Given the description of an element on the screen output the (x, y) to click on. 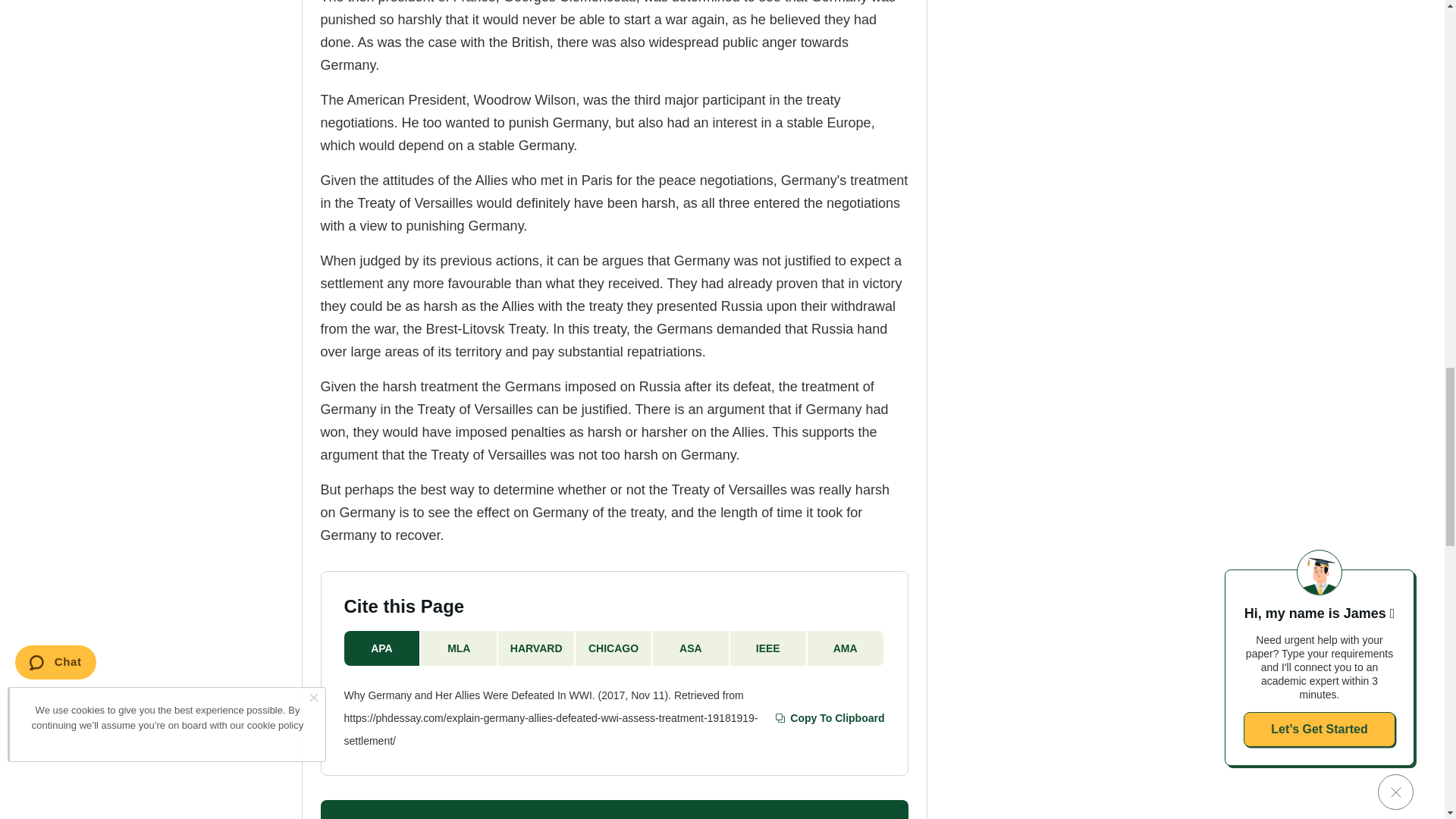
MLA (458, 647)
ASA (691, 647)
APA (382, 647)
CHICAGO (613, 647)
HARVARD (536, 647)
IEEE (769, 647)
